Given the description of an element on the screen output the (x, y) to click on. 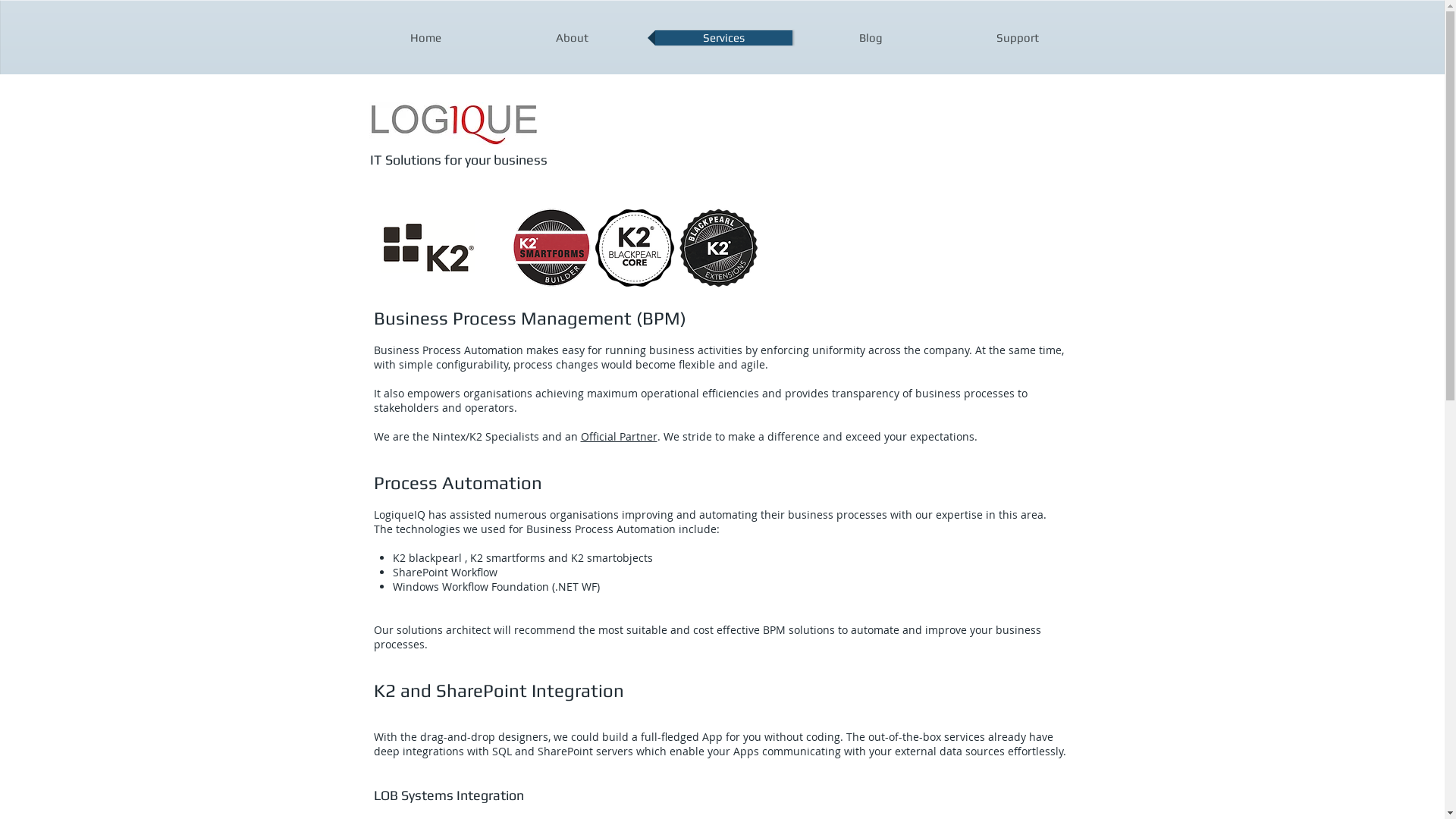
K2_blackpearl_Core_Badge.png Element type: hover (634, 247)
About Element type: text (571, 37)
K2_smartformsBuilder_Badge.png Element type: hover (550, 247)
Services Element type: text (723, 37)
K2_blackpearl_Extensions_Badge.png Element type: hover (717, 247)
Support Element type: text (1017, 37)
Blog Element type: text (870, 37)
Official Partner Element type: text (618, 436)
Home Element type: text (425, 37)
